Given the description of an element on the screen output the (x, y) to click on. 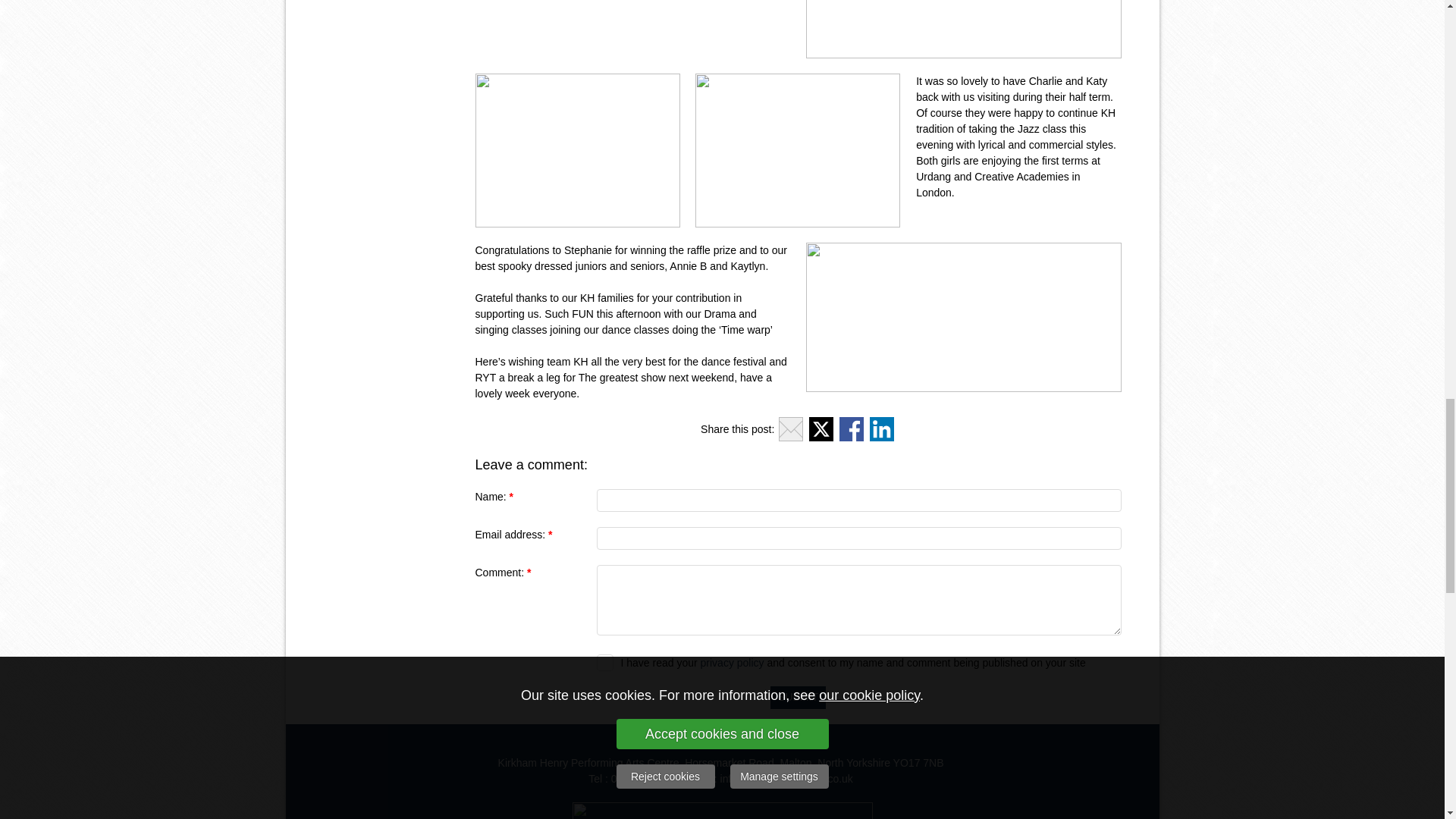
SUBMIT (797, 697)
privacy policy (732, 662)
